Given the description of an element on the screen output the (x, y) to click on. 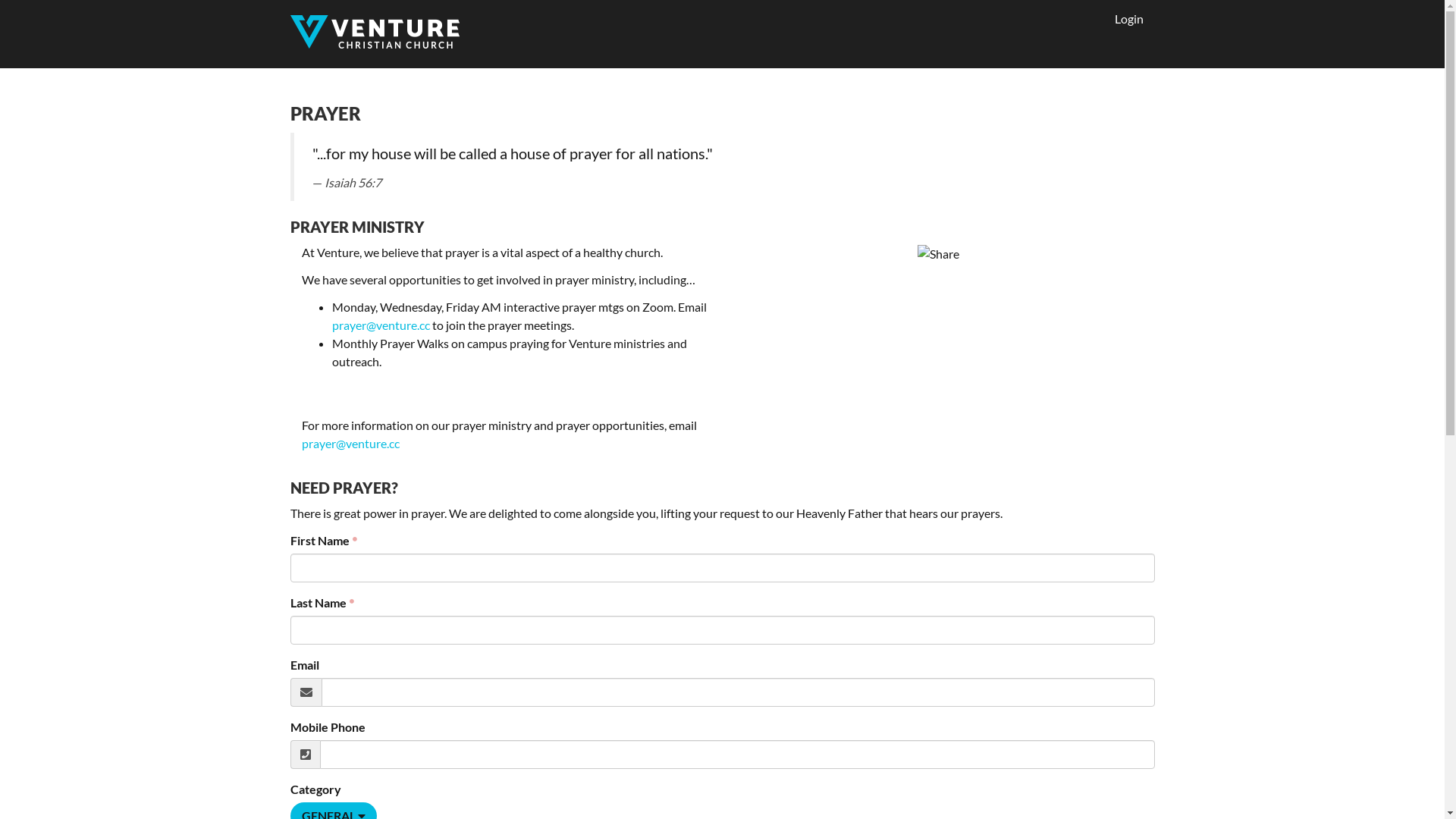
prayer@venture.cc Element type: text (380, 324)
prayer@venture.cc Element type: text (350, 443)
Login Element type: text (1093, 18)
